Given the description of an element on the screen output the (x, y) to click on. 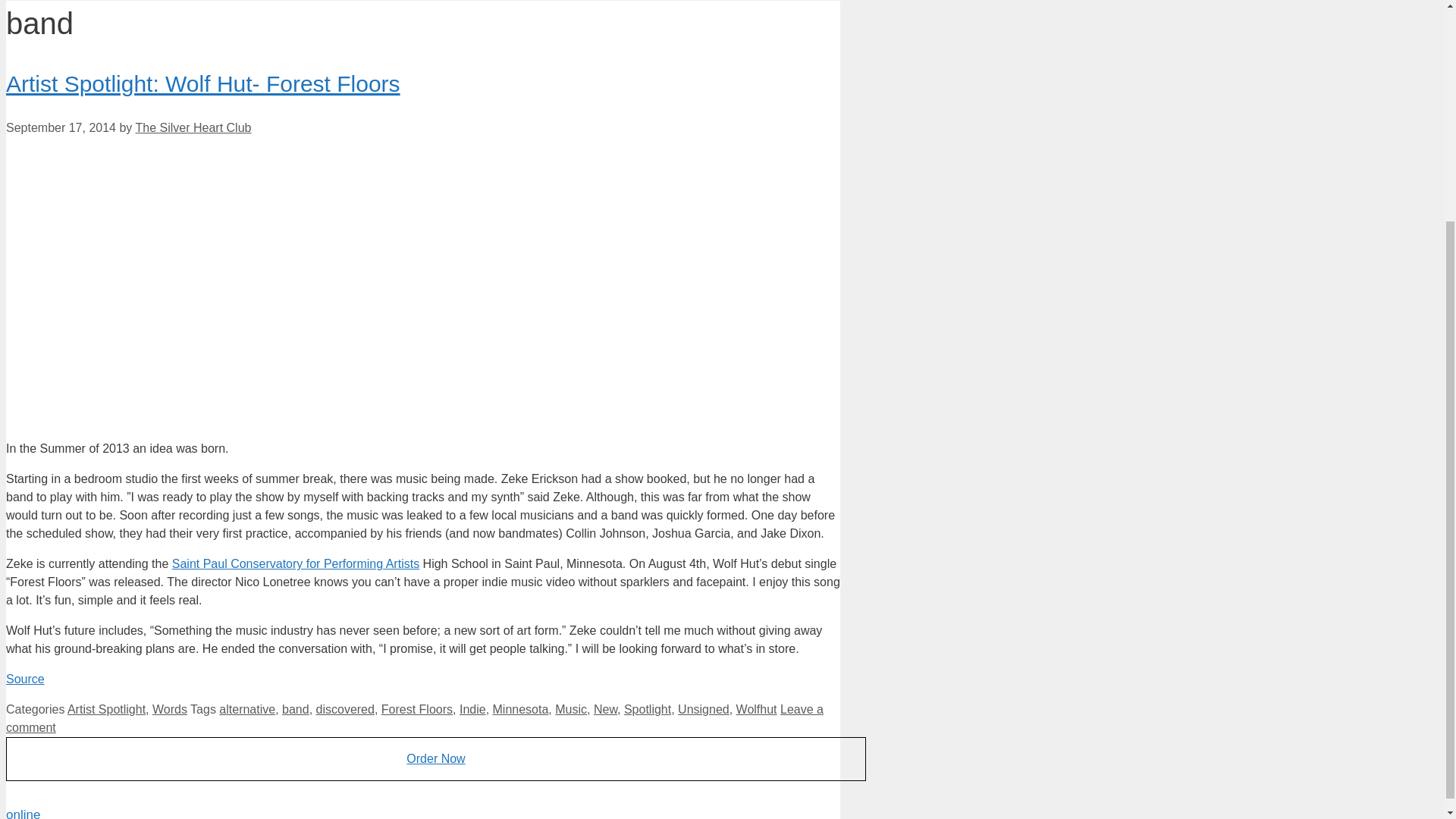
View all posts by The Silver Heart Club (193, 127)
Artist Spotlight: Wolf Hut- Forest Floors (202, 83)
Wolfhut (756, 708)
Words (169, 708)
Forest Floors (416, 708)
The Silver Heart Club (193, 127)
Unsigned (703, 708)
Music (570, 708)
discovered (344, 708)
Indie (473, 708)
